Given the description of an element on the screen output the (x, y) to click on. 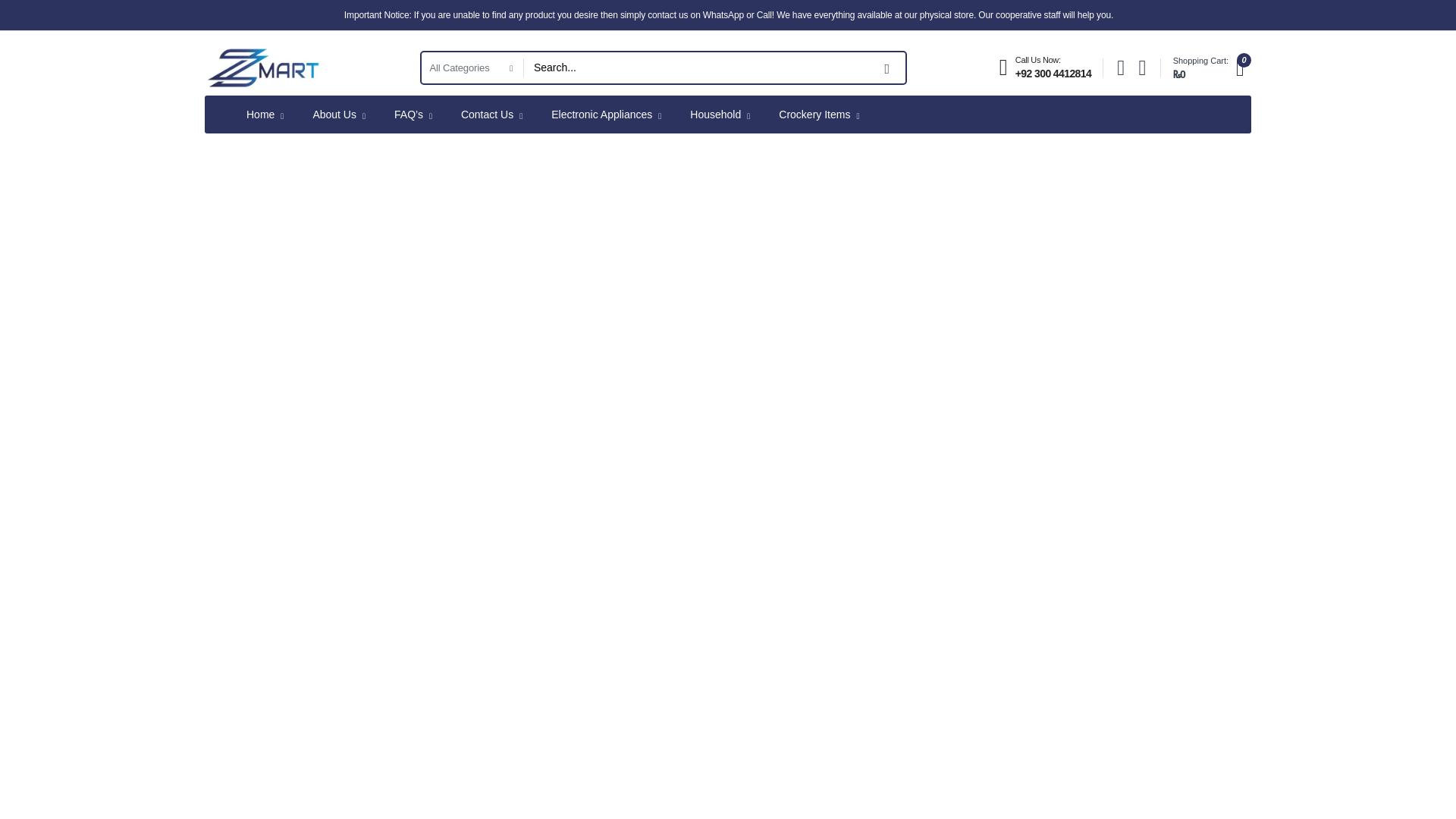
Household (719, 113)
About Us (339, 113)
Crockery Items (818, 113)
Wishlist (1141, 67)
Home (264, 113)
submit-button (887, 67)
Account (1120, 67)
Electronic Appliances (606, 113)
Contact Us (491, 113)
